Given the description of an element on the screen output the (x, y) to click on. 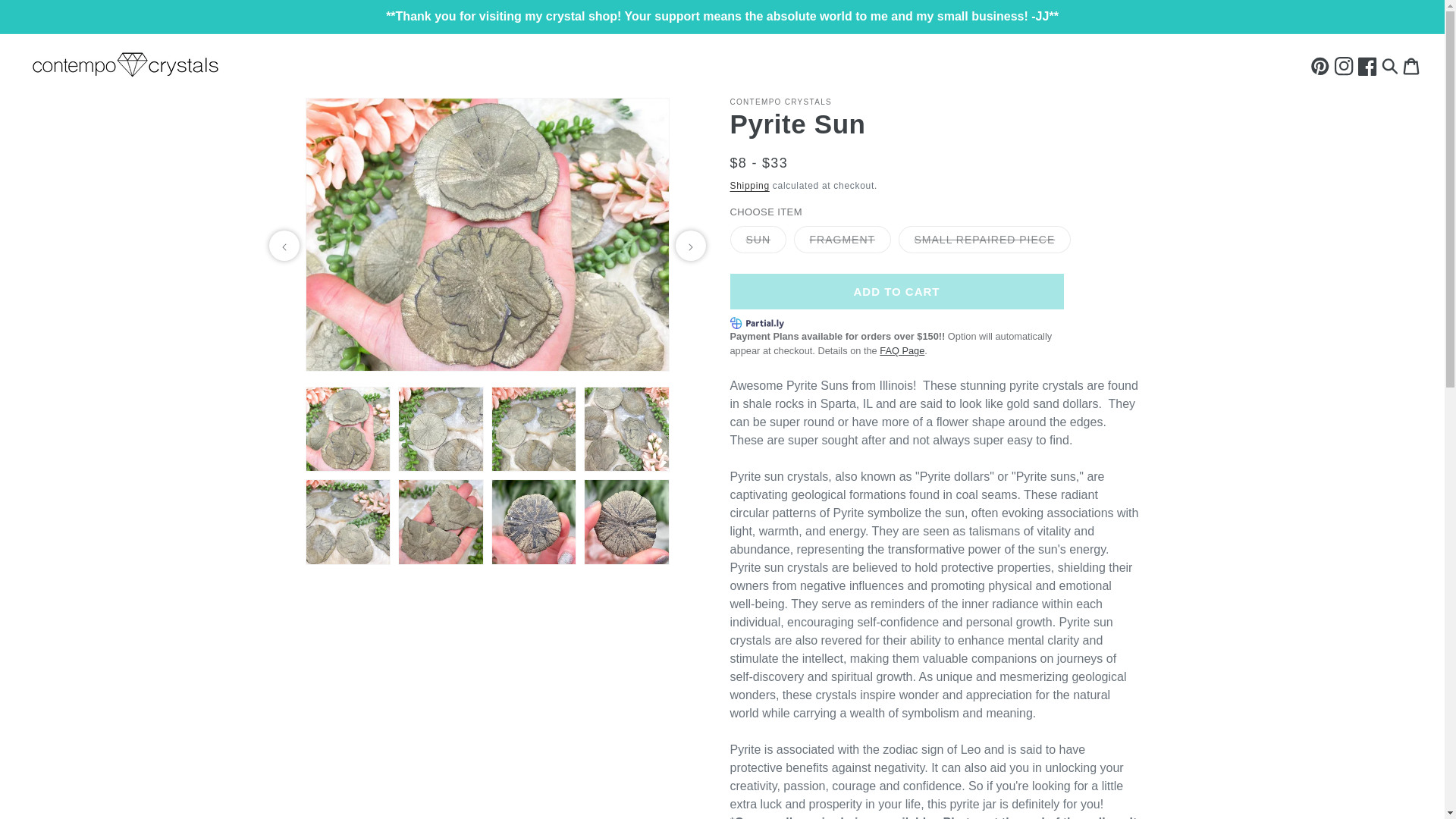
SKIP TO CONTENT (45, 17)
Facebook (1367, 65)
Instagram (1344, 65)
Pintrest (1320, 65)
SKIP TO PRODUCT INFORMATION (350, 114)
